Given the description of an element on the screen output the (x, y) to click on. 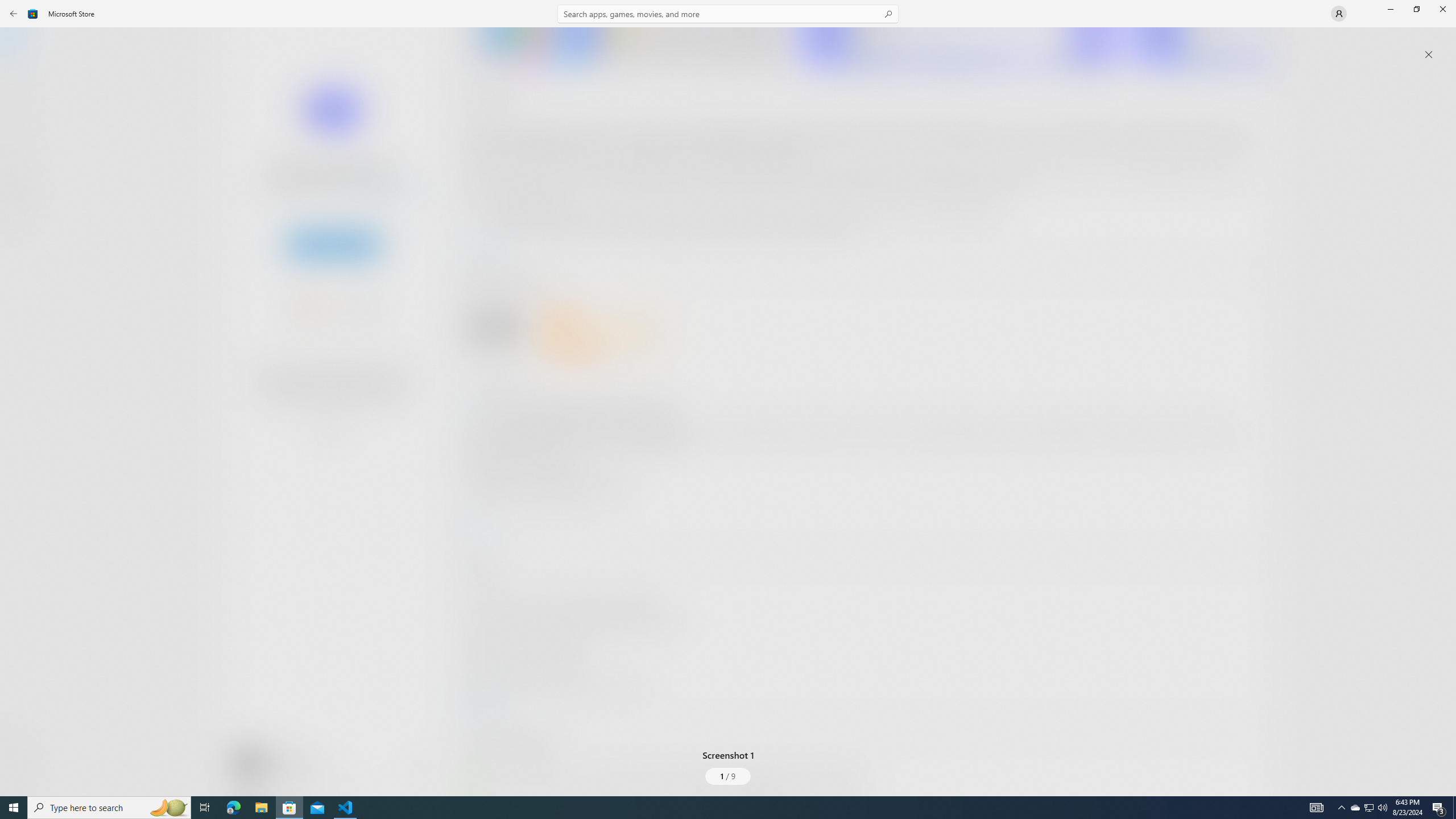
Back (13, 13)
Show less (482, 703)
Home (20, 45)
Productivity (329, 426)
close popup window (1428, 54)
Show all ratings and reviews (1253, 281)
User profile (1338, 13)
Entertainment (20, 185)
Close Microsoft Store (1442, 9)
Screenshot 1 (727, 403)
Minimize Microsoft Store (1390, 9)
2.6 stars. Click to skip to ratings and reviews (307, 309)
Share (424, 769)
What's New (20, 738)
Gaming (20, 115)
